Given the description of an element on the screen output the (x, y) to click on. 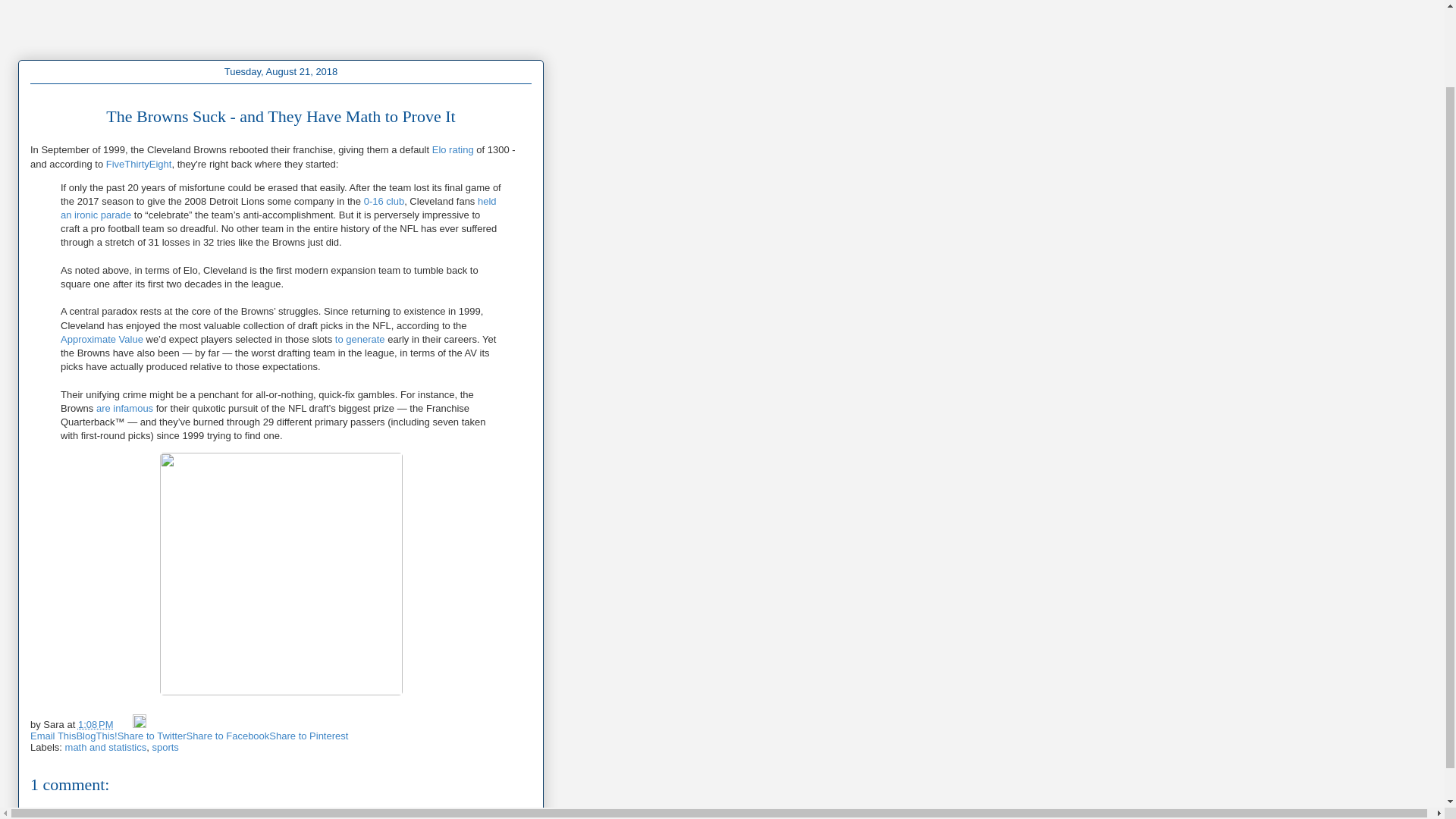
permanent link (95, 724)
BlogThis! (95, 736)
Share to Twitter (151, 736)
FiveThirtyEight (138, 163)
Share to Twitter (151, 736)
Share to Facebook (227, 736)
Elo rating (453, 149)
Share to Pinterest (308, 736)
BlogThis! (95, 736)
Share to Pinterest (308, 736)
